Given the description of an element on the screen output the (x, y) to click on. 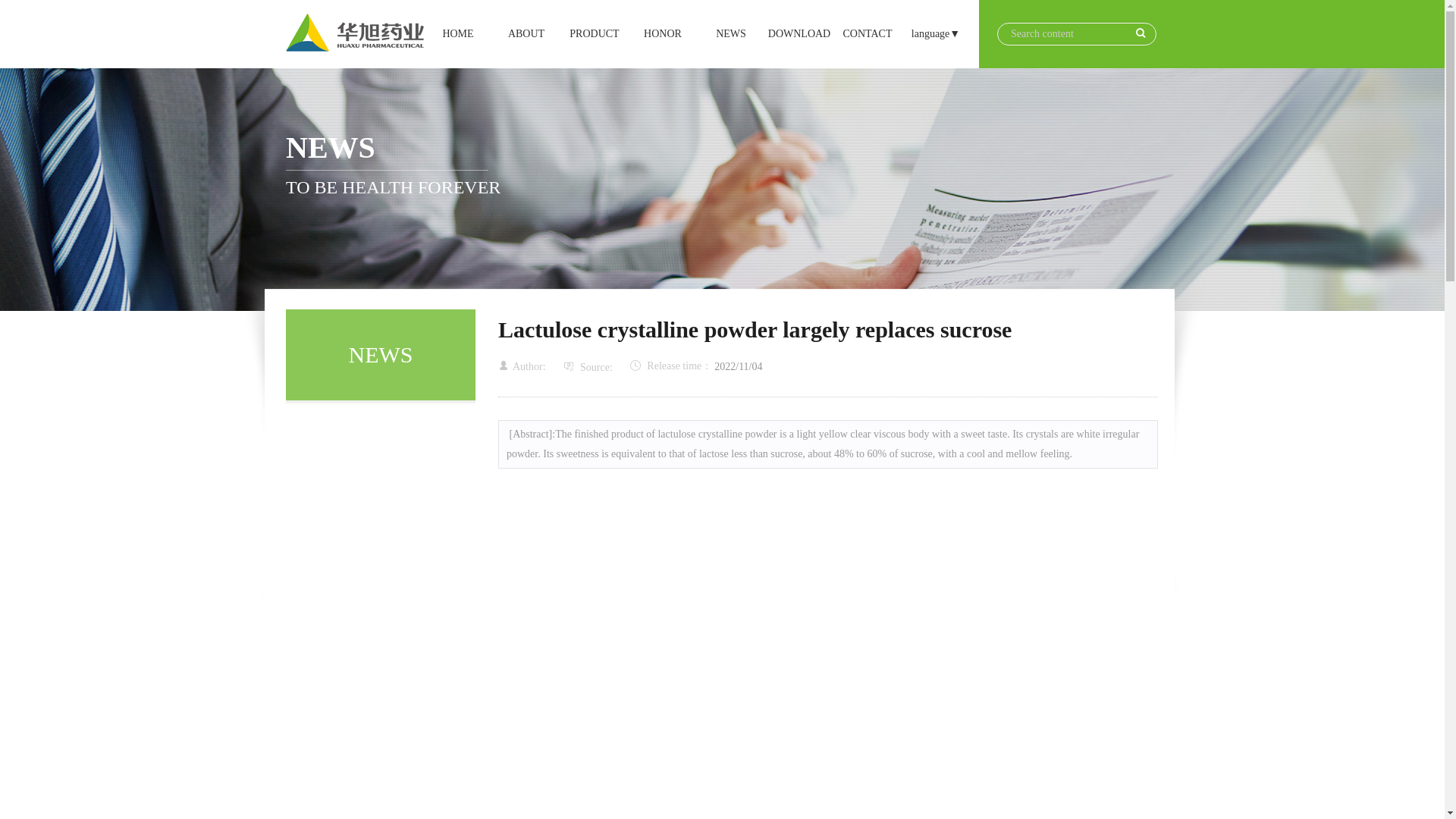
Huaxu Pharmaceutical (798, 33)
